Given the description of an element on the screen output the (x, y) to click on. 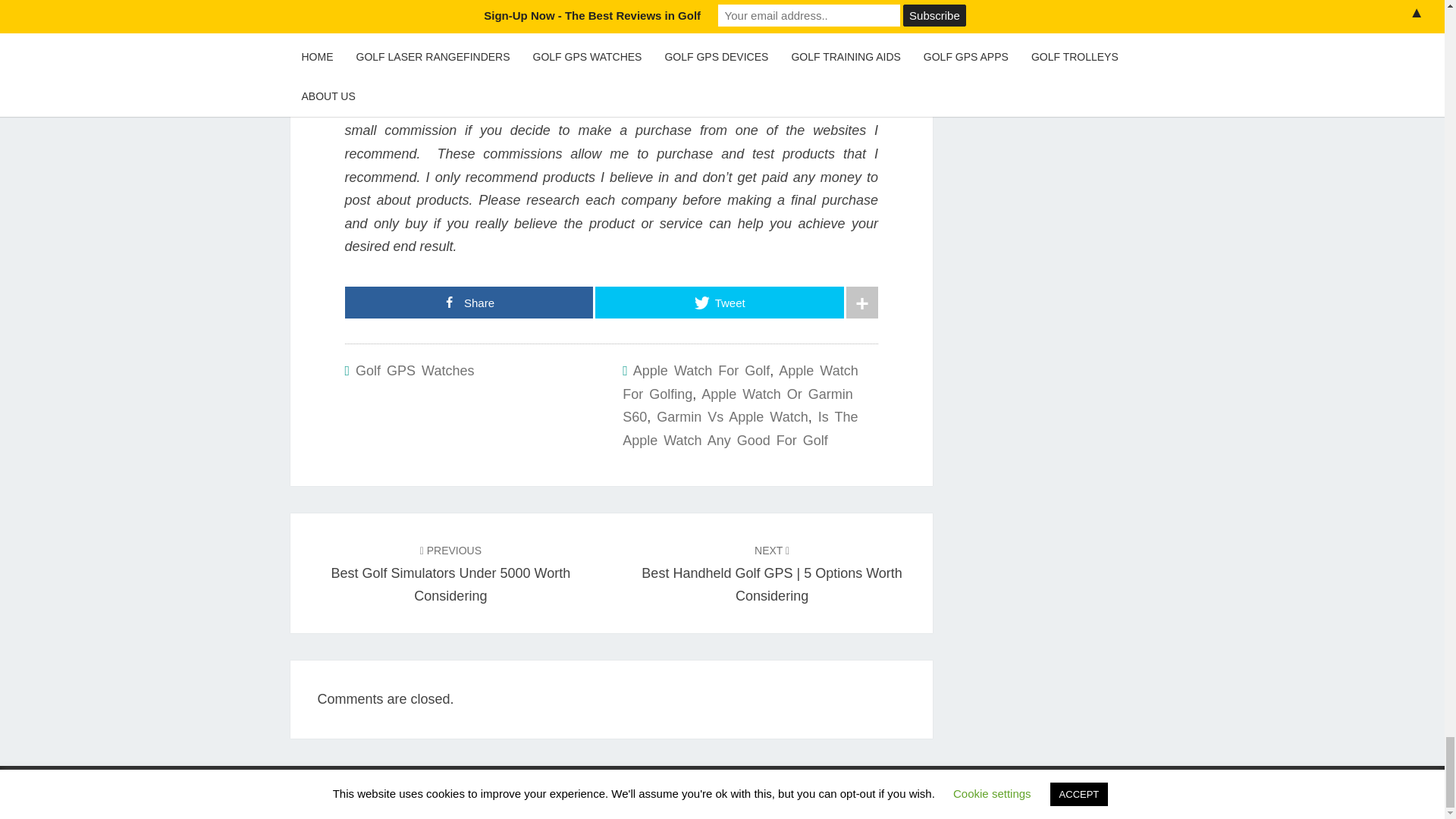
Apple Watch For Golfing (740, 382)
Garmin Vs Apple Watch (732, 417)
Is The Apple Watch Any Good For Golf (740, 428)
Apple Watch Or Garmin S60 (737, 405)
Apple Watch For Golf (701, 370)
HERE (362, 5)
Tweet (719, 302)
Golf GPS Watches (414, 370)
Share (467, 302)
